Given the description of an element on the screen output the (x, y) to click on. 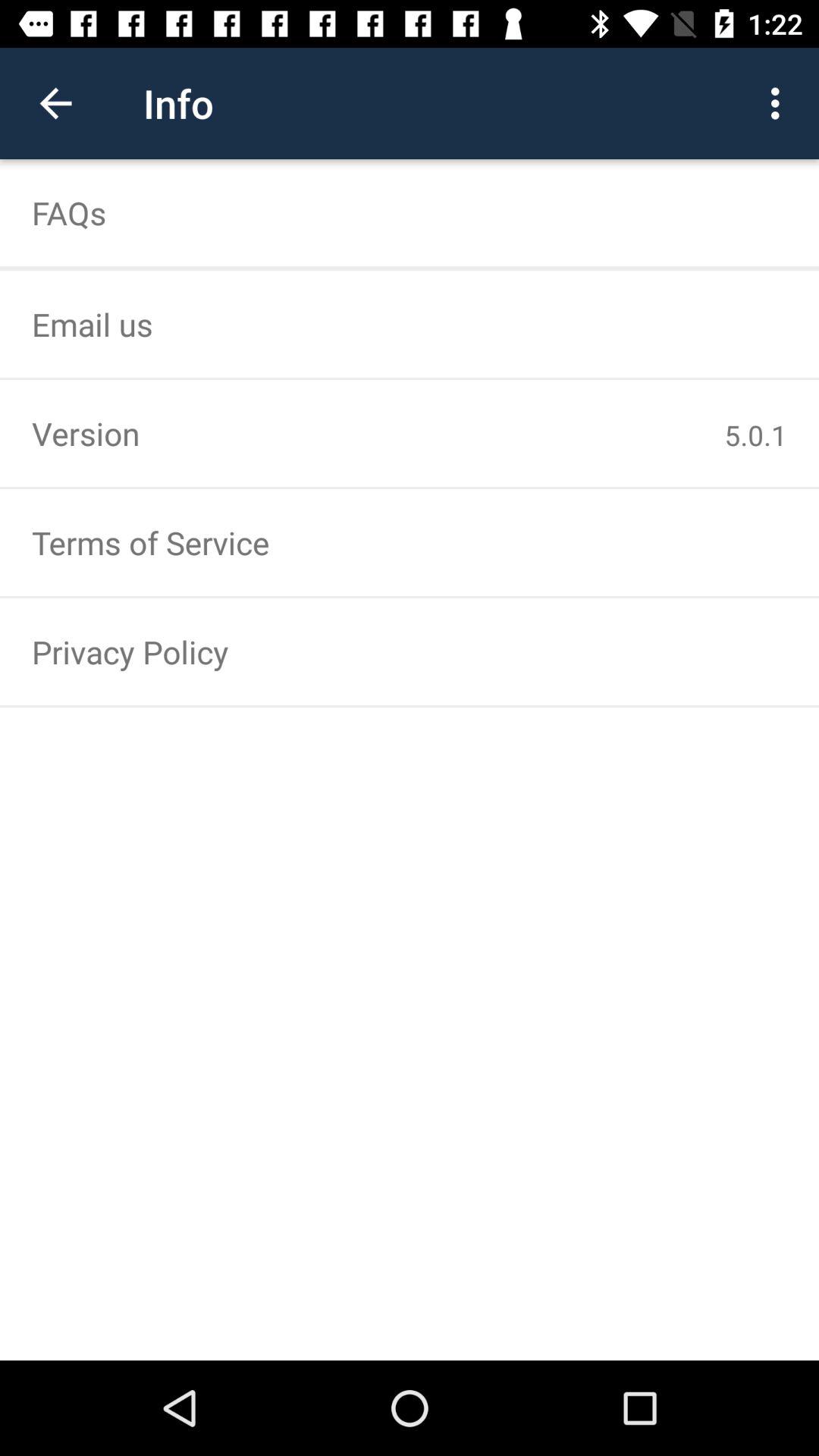
choose the email us icon (409, 323)
